Given the description of an element on the screen output the (x, y) to click on. 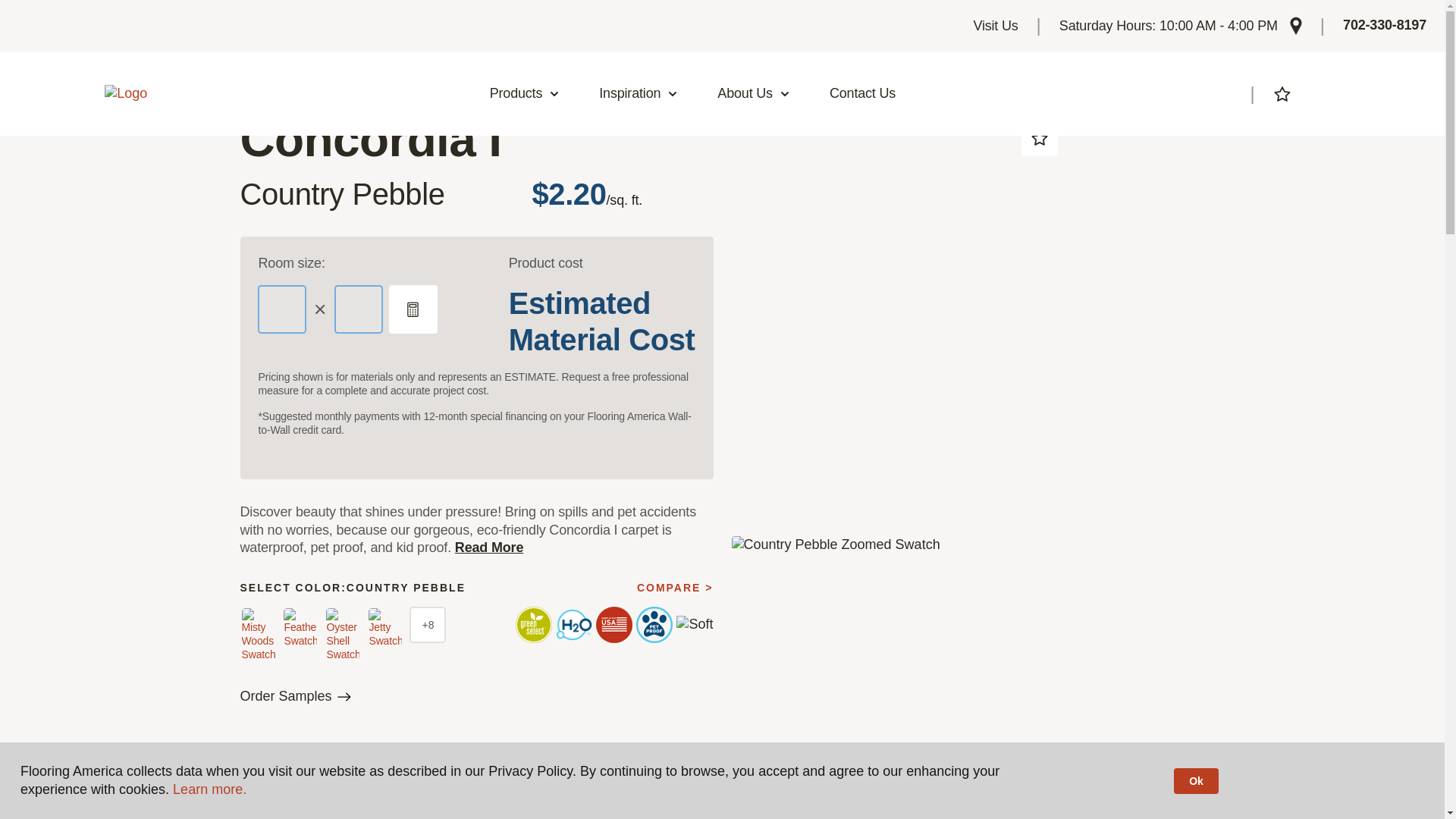
Misty Woods (258, 634)
Visit Us (994, 26)
Oyster Shell (342, 634)
Contact Us (862, 94)
Feather (300, 627)
Products (525, 94)
702-330-8197 (1384, 25)
Jetty (384, 627)
Inspiration (638, 94)
About Us (753, 94)
